Given the description of an element on the screen output the (x, y) to click on. 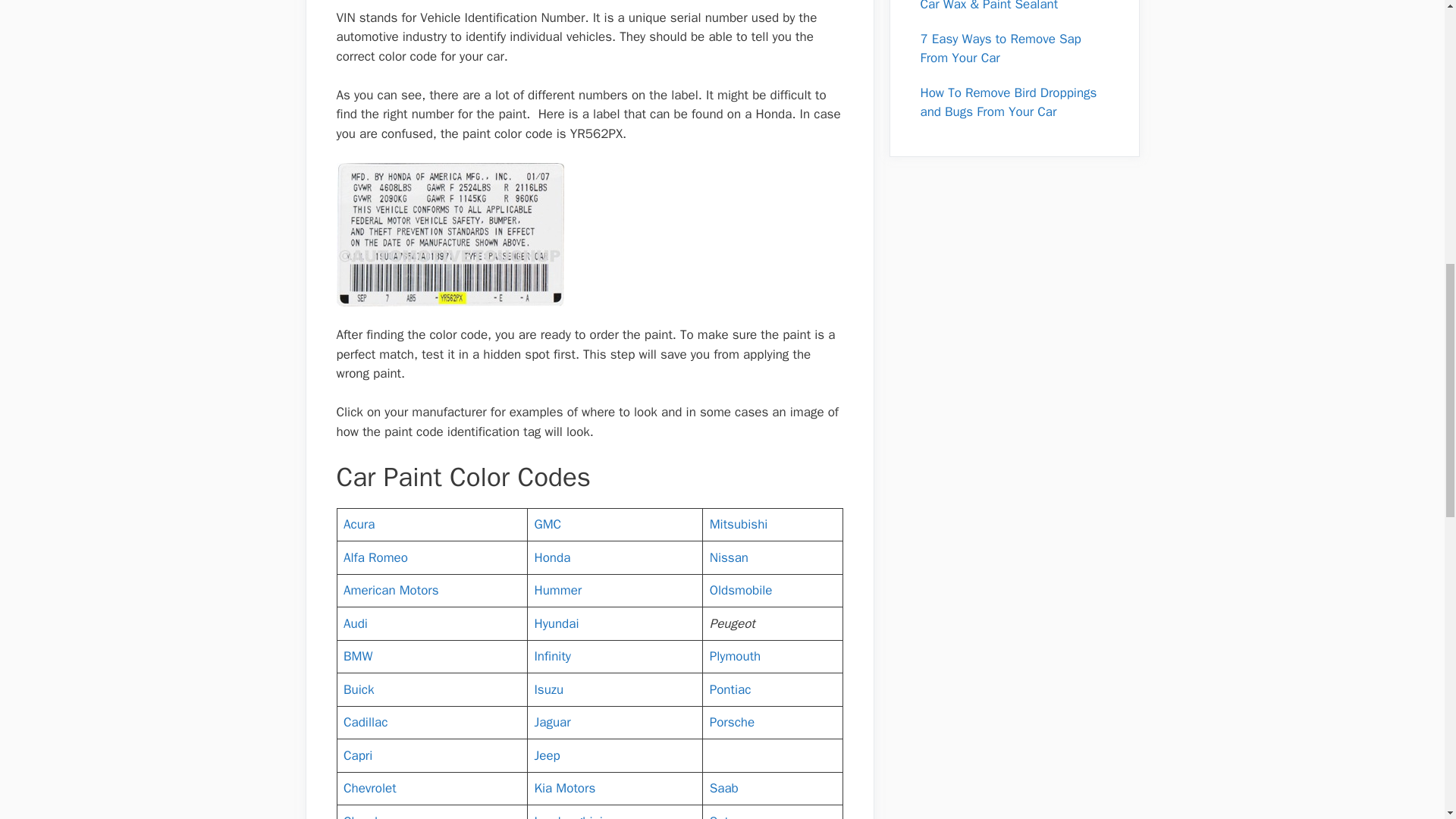
Cadillac (365, 722)
BMW (357, 656)
Saturn (728, 816)
Buick (358, 689)
Infinity (552, 656)
Oldsmobile (741, 590)
Alfa Romeo (375, 557)
Saab (724, 788)
Honda (552, 557)
Hyundai (556, 623)
